Given the description of an element on the screen output the (x, y) to click on. 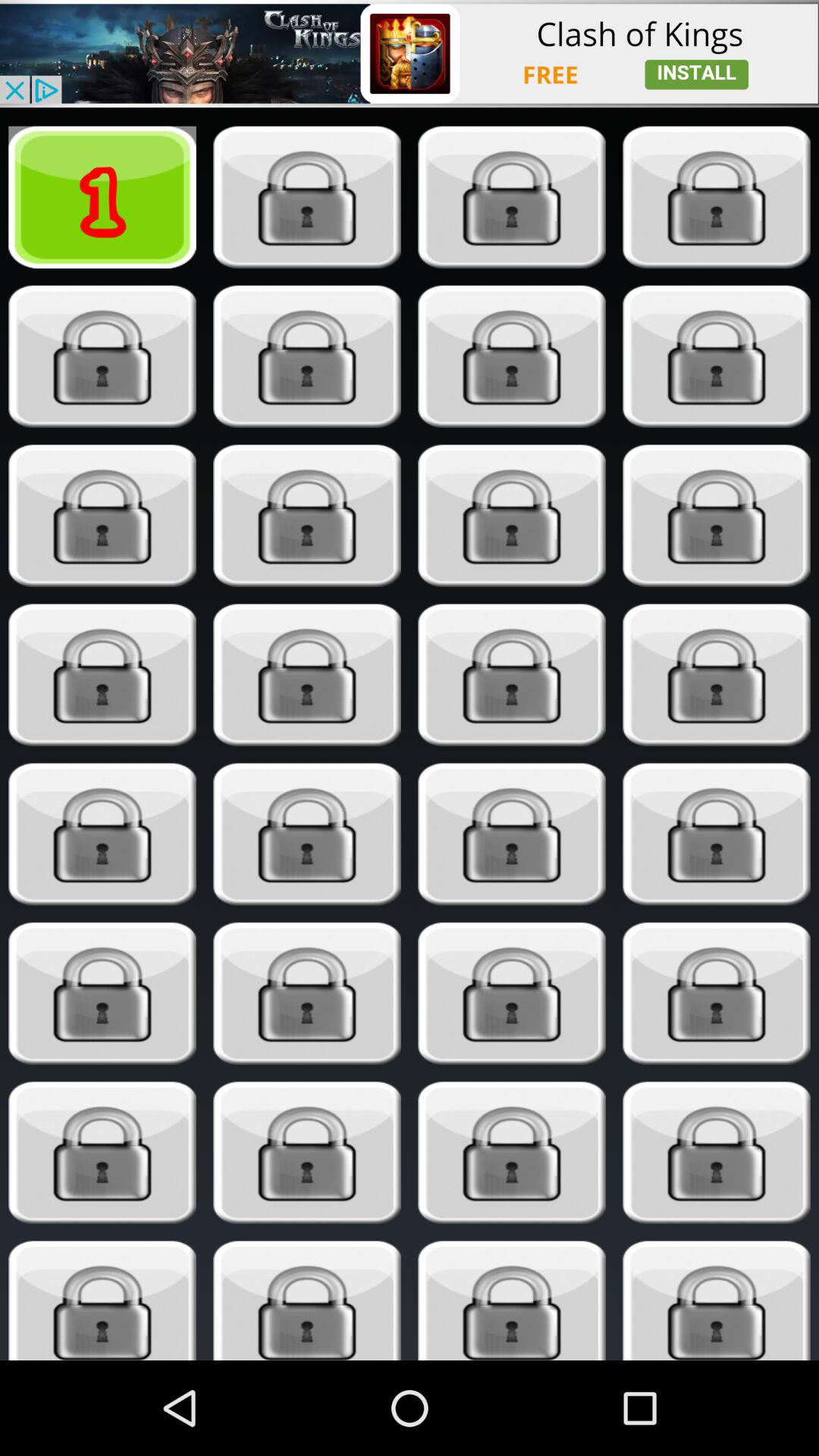
unlock button (511, 993)
